Given the description of an element on the screen output the (x, y) to click on. 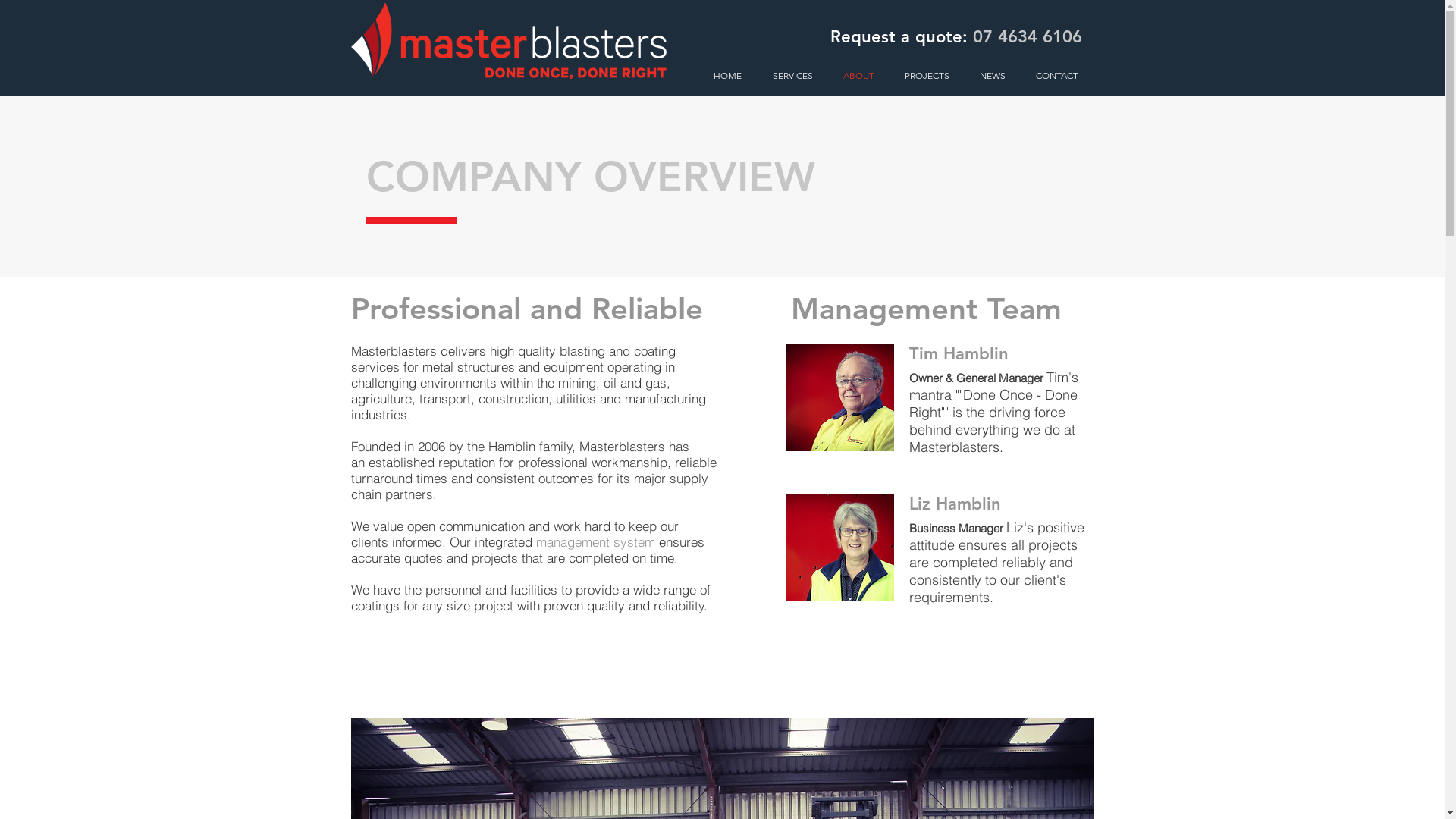
Liz Hamblin Element type: hover (839, 547)
07 4634 6106 Element type: text (1026, 36)
SERVICES Element type: text (787, 75)
NEWS Element type: text (988, 75)
Tim Hamblin Element type: hover (839, 397)
ABOUT Element type: text (853, 75)
PROJECTS Element type: text (922, 75)
HOME Element type: text (722, 75)
CONTACT Element type: text (1052, 75)
management system Element type: text (594, 541)
